Given the description of an element on the screen output the (x, y) to click on. 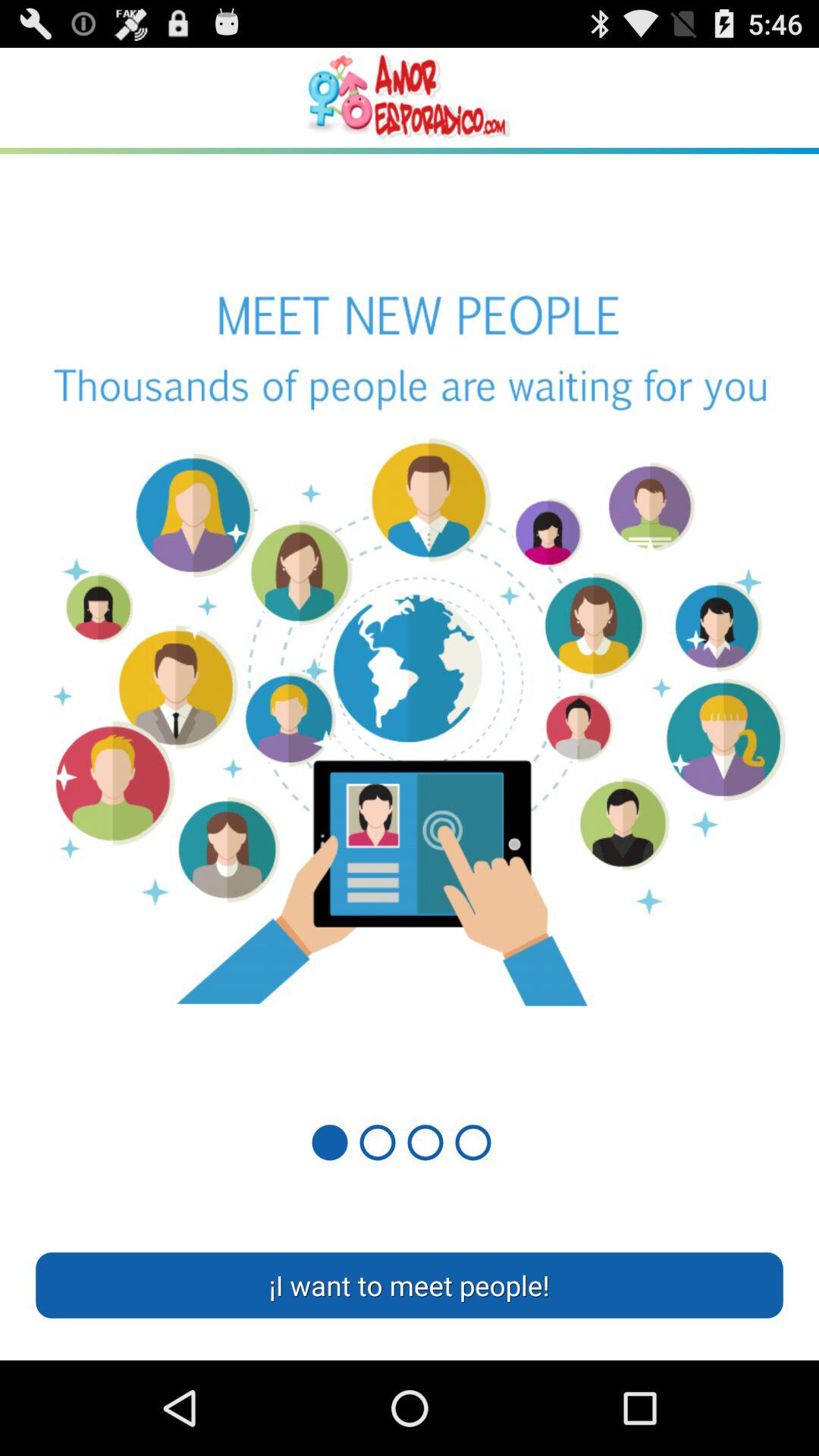
swipe to the i want to item (409, 1285)
